Given the description of an element on the screen output the (x, y) to click on. 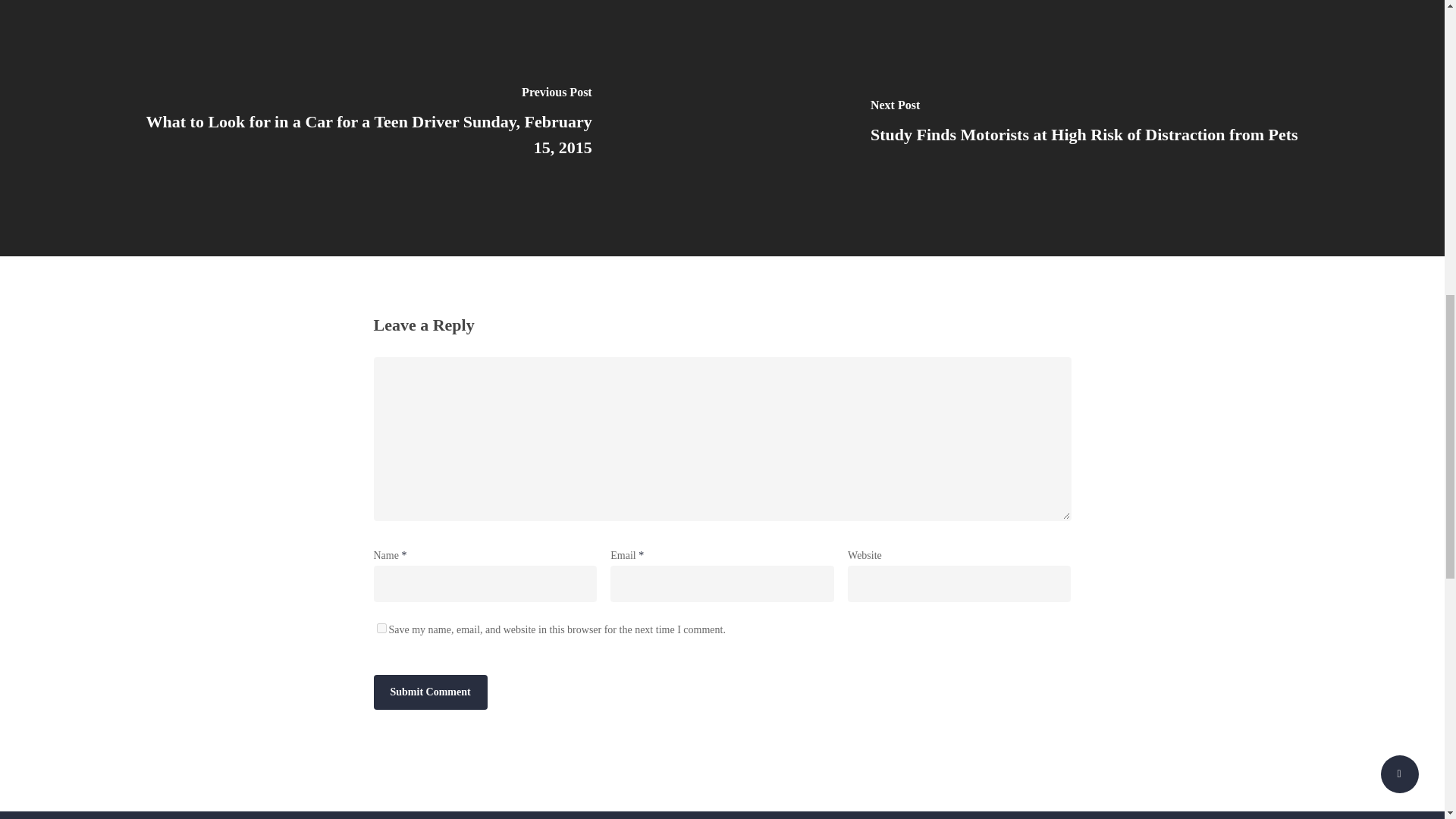
yes (380, 628)
Submit Comment (429, 692)
Submit Comment (429, 692)
